Given the description of an element on the screen output the (x, y) to click on. 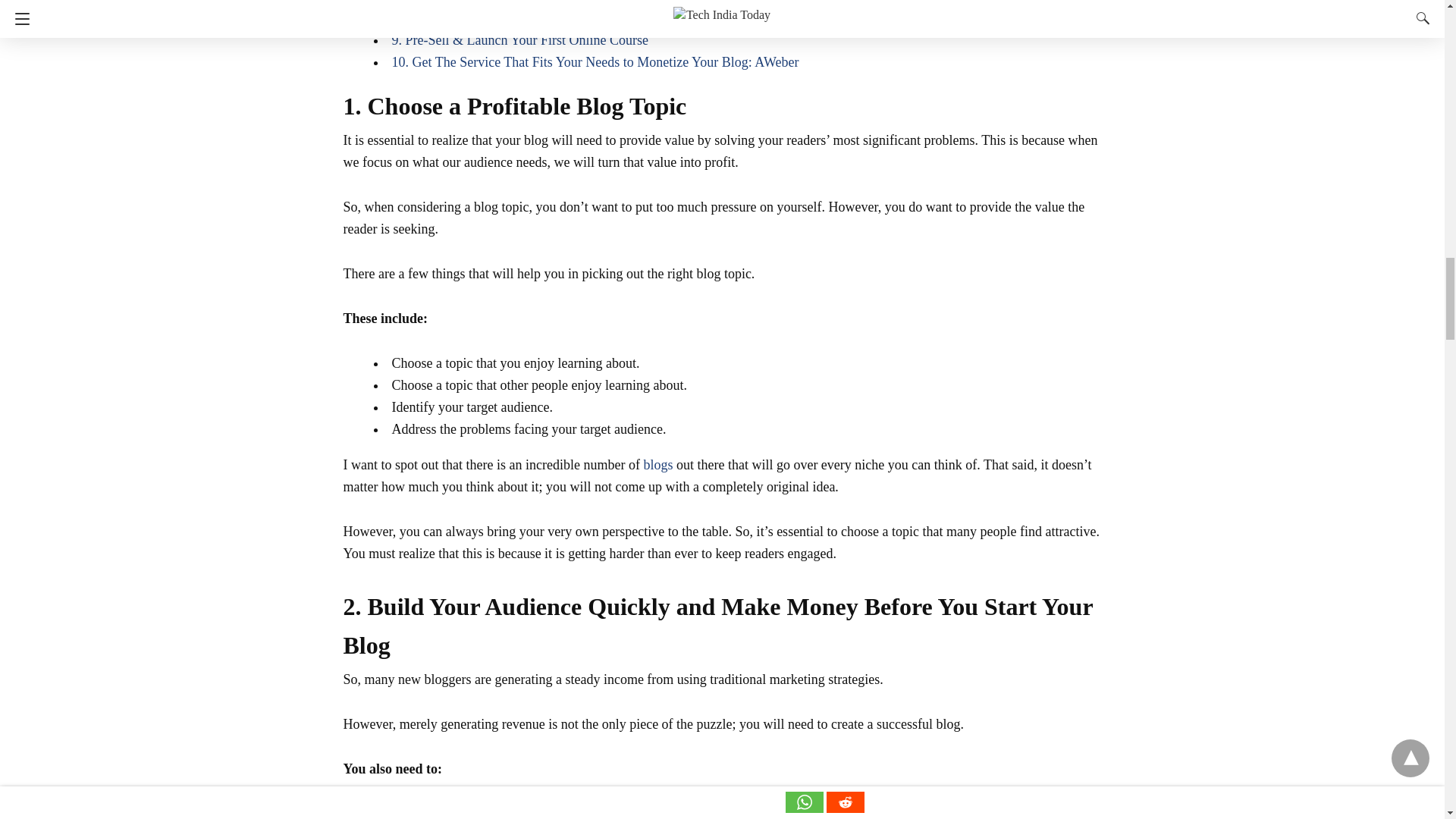
7. Set Up Your Blog For Organic Email List Growth (534, 2)
7. Set Up Your Blog For Organic Email List Growth (534, 2)
blogs (657, 464)
